Given the description of an element on the screen output the (x, y) to click on. 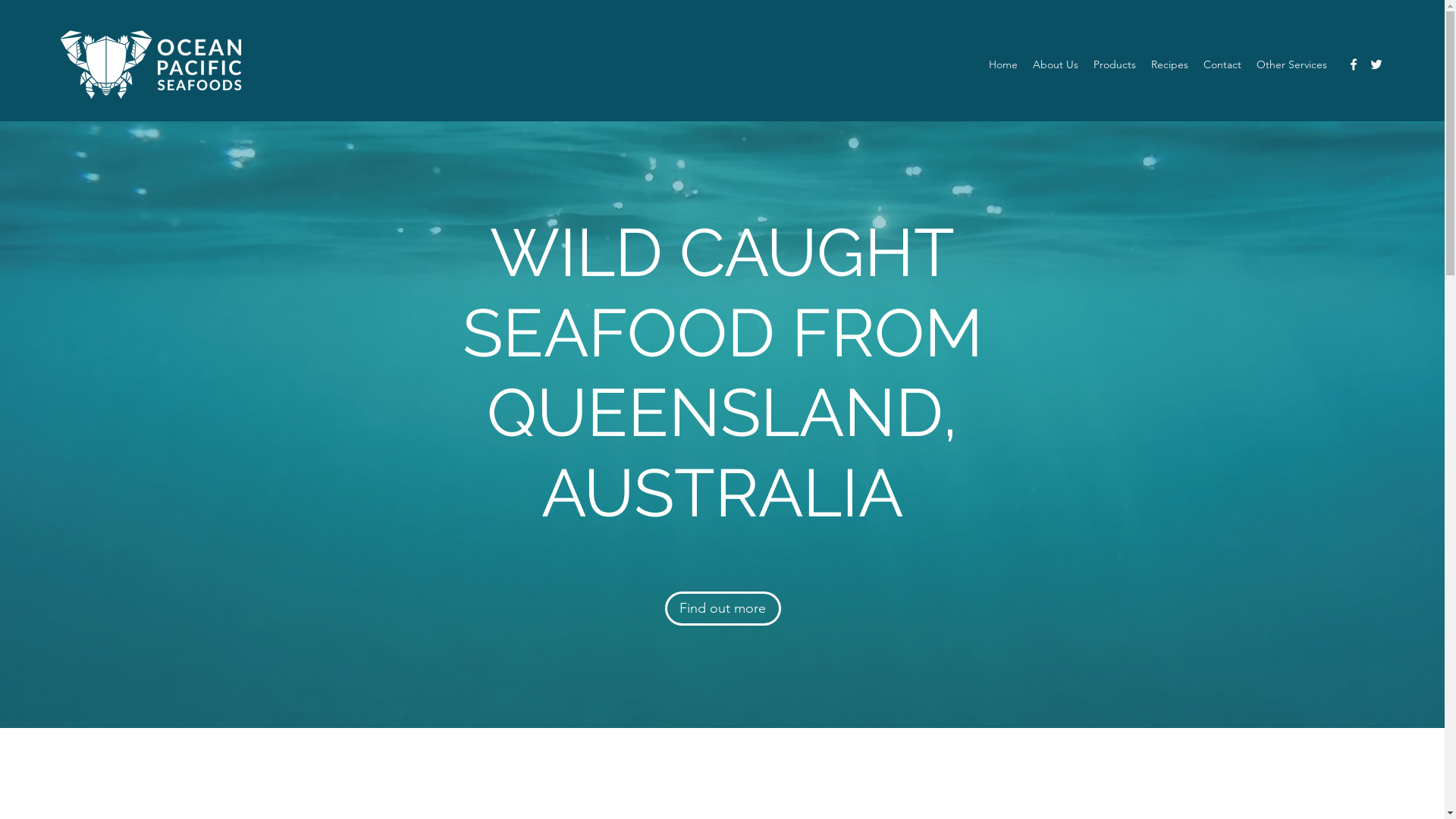
Find out more Element type: text (722, 608)
Recipes Element type: text (1169, 64)
Contact Element type: text (1221, 64)
About Us Element type: text (1055, 64)
Products Element type: text (1114, 64)
Other Services Element type: text (1291, 64)
Home Element type: text (1003, 64)
